Given the description of an element on the screen output the (x, y) to click on. 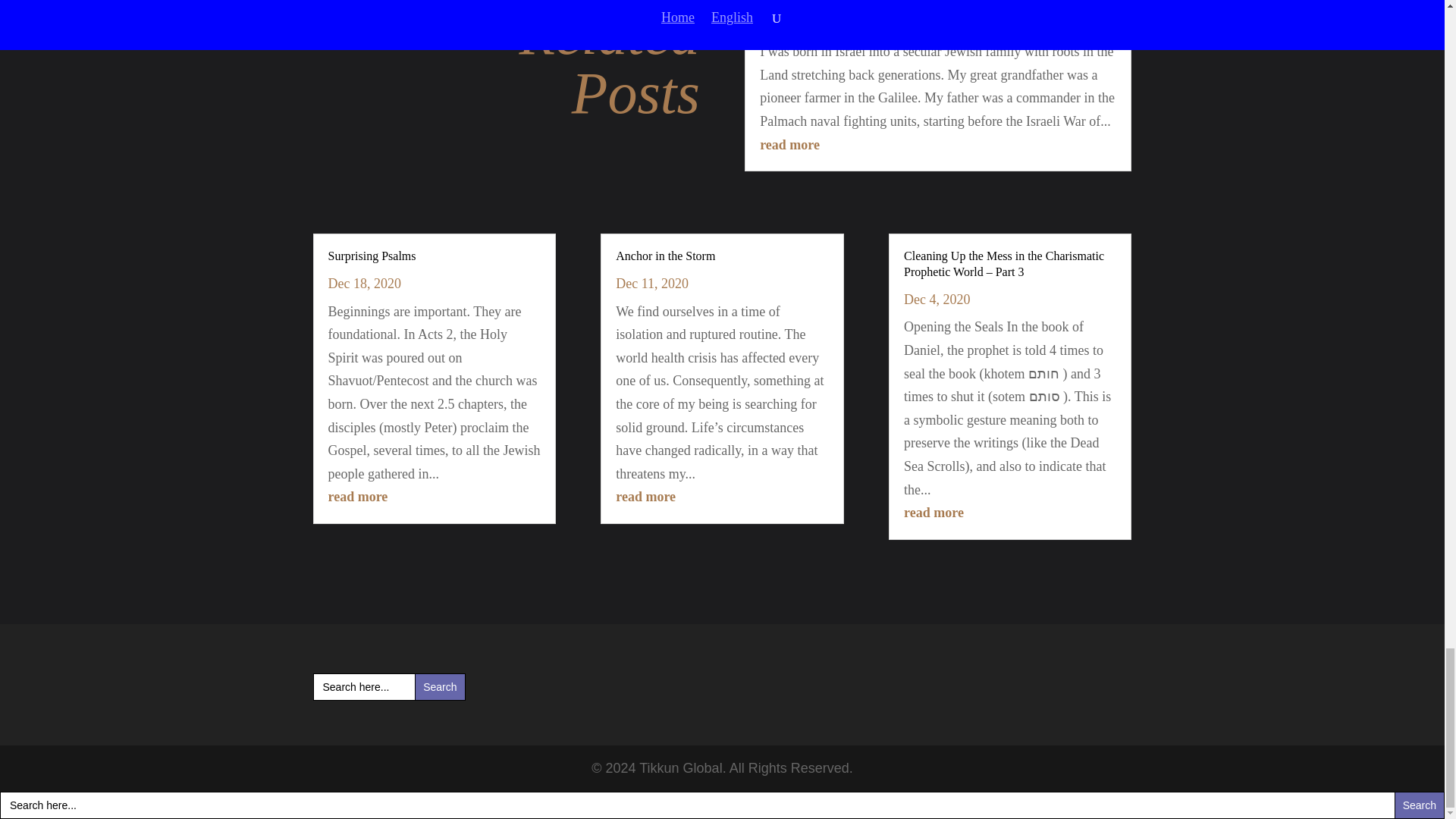
Surprising Psalms (370, 255)
How I Came to Faith (810, 1)
read more (357, 496)
read more (645, 496)
Search (439, 687)
read more (789, 144)
read more (933, 512)
Anchor in the Storm (664, 255)
Search (439, 687)
Search (439, 687)
